Given the description of an element on the screen output the (x, y) to click on. 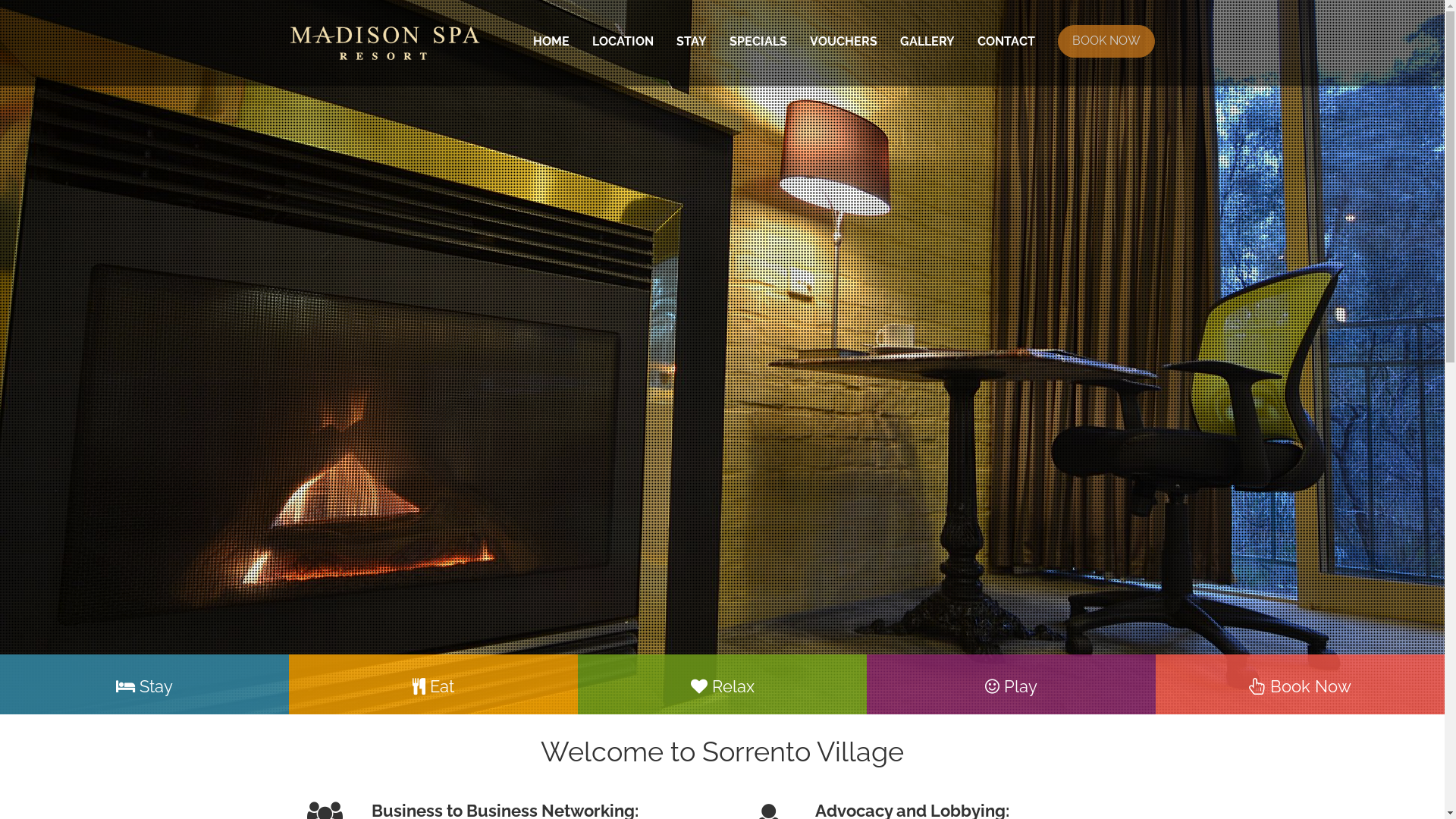
BOOK NOW Element type: text (1106, 45)
Relax Element type: text (721, 686)
SPECIALS Element type: text (757, 41)
GALLERY Element type: text (927, 41)
LOCATION Element type: text (622, 41)
VOUCHERS Element type: text (842, 41)
HOME Element type: text (550, 41)
CONTACT Element type: text (1006, 41)
Eat Element type: text (433, 686)
STAY Element type: text (690, 41)
Book Now Element type: text (1299, 686)
Stay Element type: text (144, 686)
Play Element type: text (1011, 686)
